Given the description of an element on the screen output the (x, y) to click on. 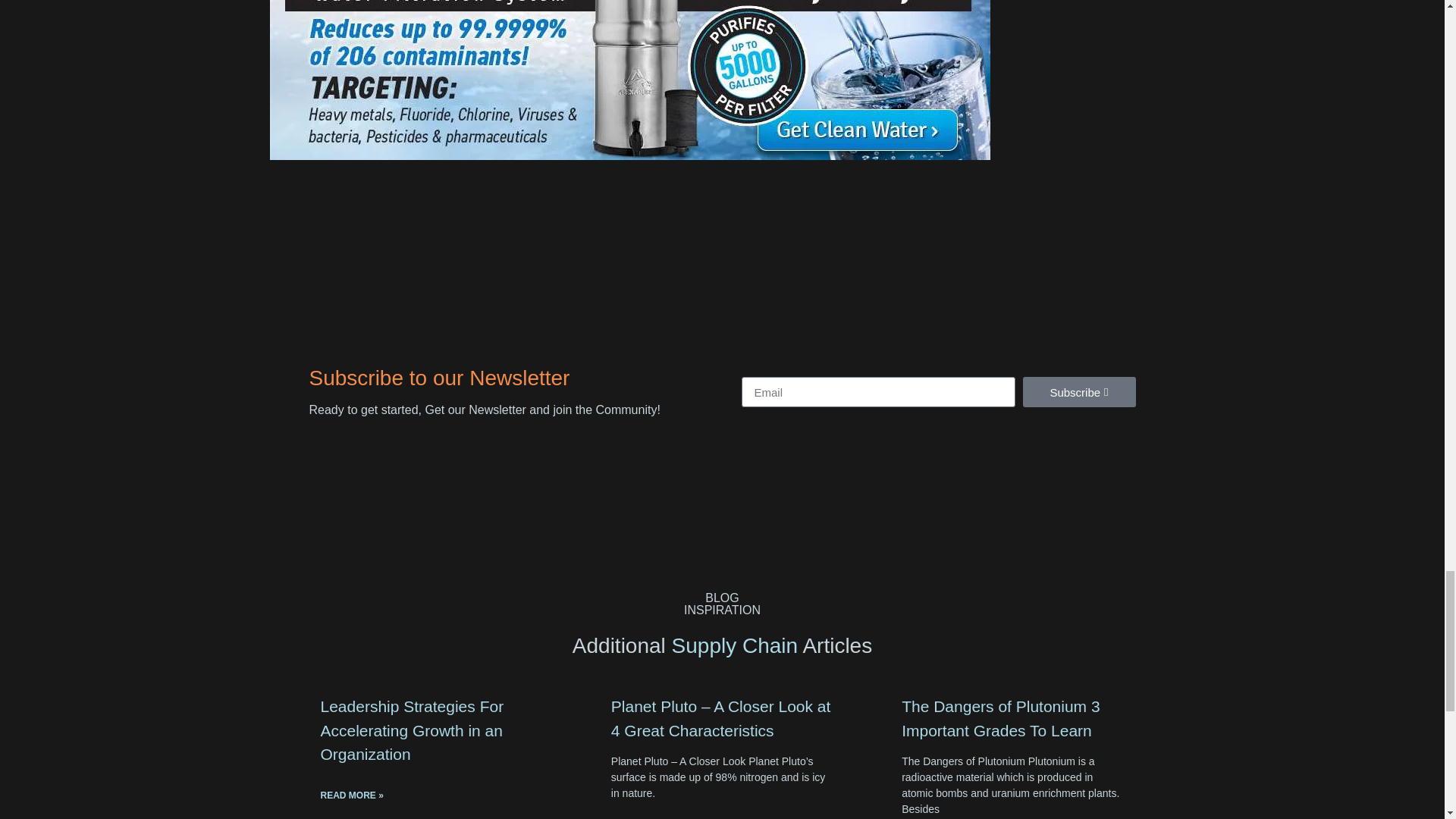
The Dangers of Plutonium 3 Important Grades To Learn (1000, 718)
Subscribe (1078, 391)
Supply Chain (734, 645)
